Given the description of an element on the screen output the (x, y) to click on. 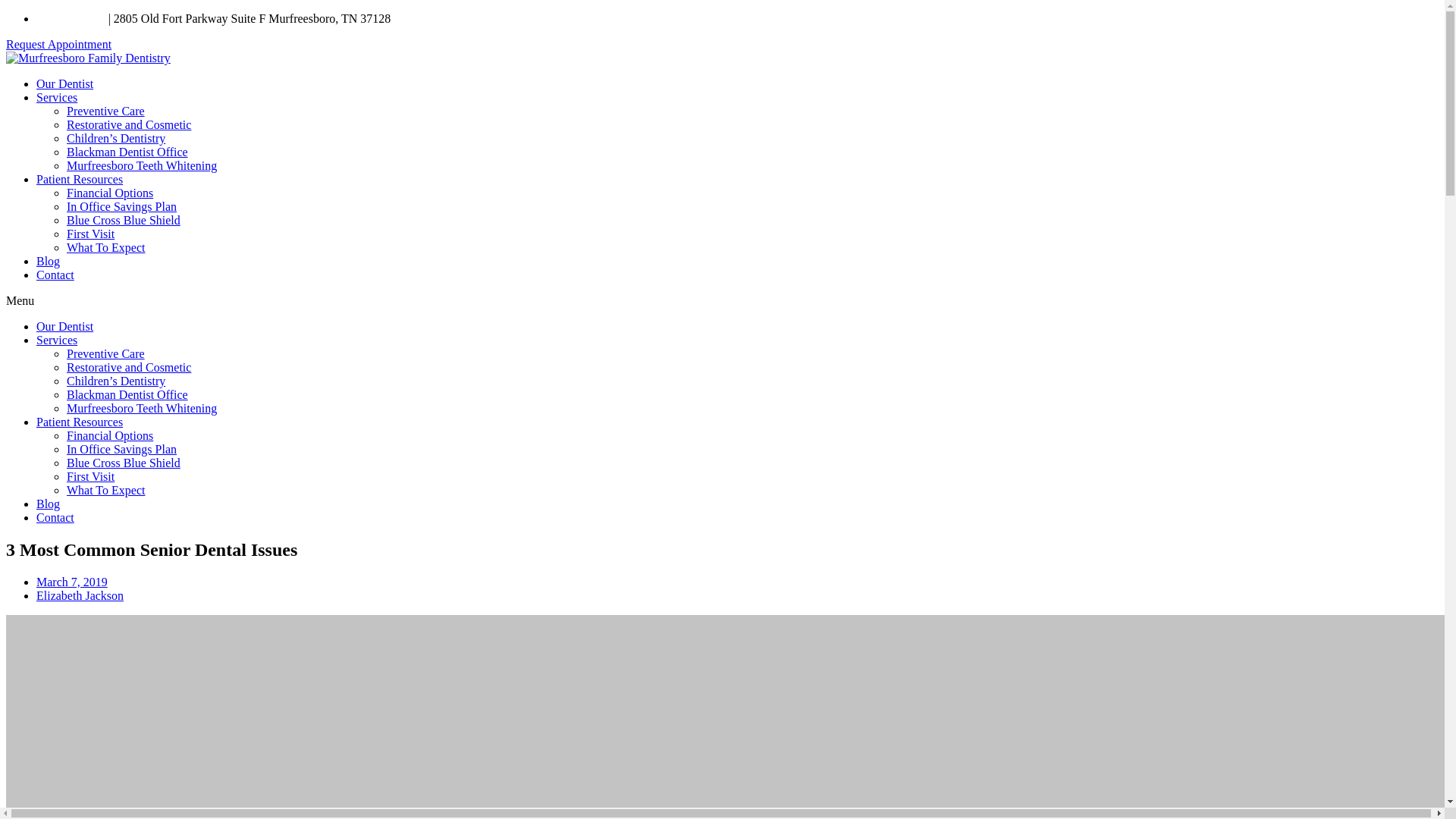
Blackman Dentist Office (126, 394)
Preventive Care (105, 353)
Preventive Care (105, 110)
Contact (55, 274)
In Office Savings Plan (121, 449)
Blue Cross Blue Shield (123, 462)
Financial Options (109, 192)
Our Dentist (64, 326)
Restorative and Cosmetic (128, 367)
Blog (47, 260)
Our Dentist (64, 83)
Request Appointment (58, 43)
615-904-1700 (70, 18)
Murfreesboro Teeth Whitening (141, 164)
March 7, 2019 (71, 581)
